Given the description of an element on the screen output the (x, y) to click on. 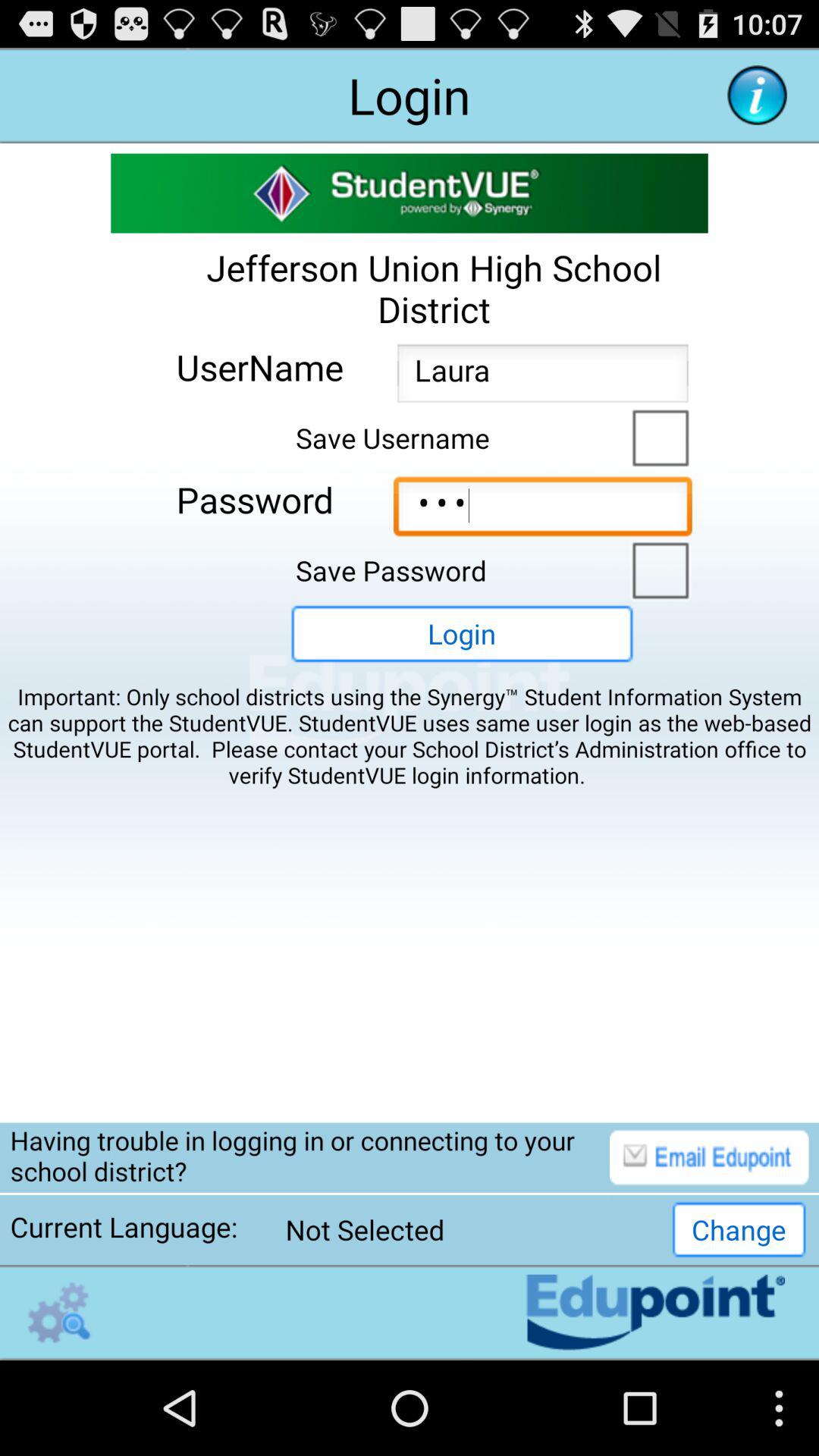
see more information (757, 95)
